Given the description of an element on the screen output the (x, y) to click on. 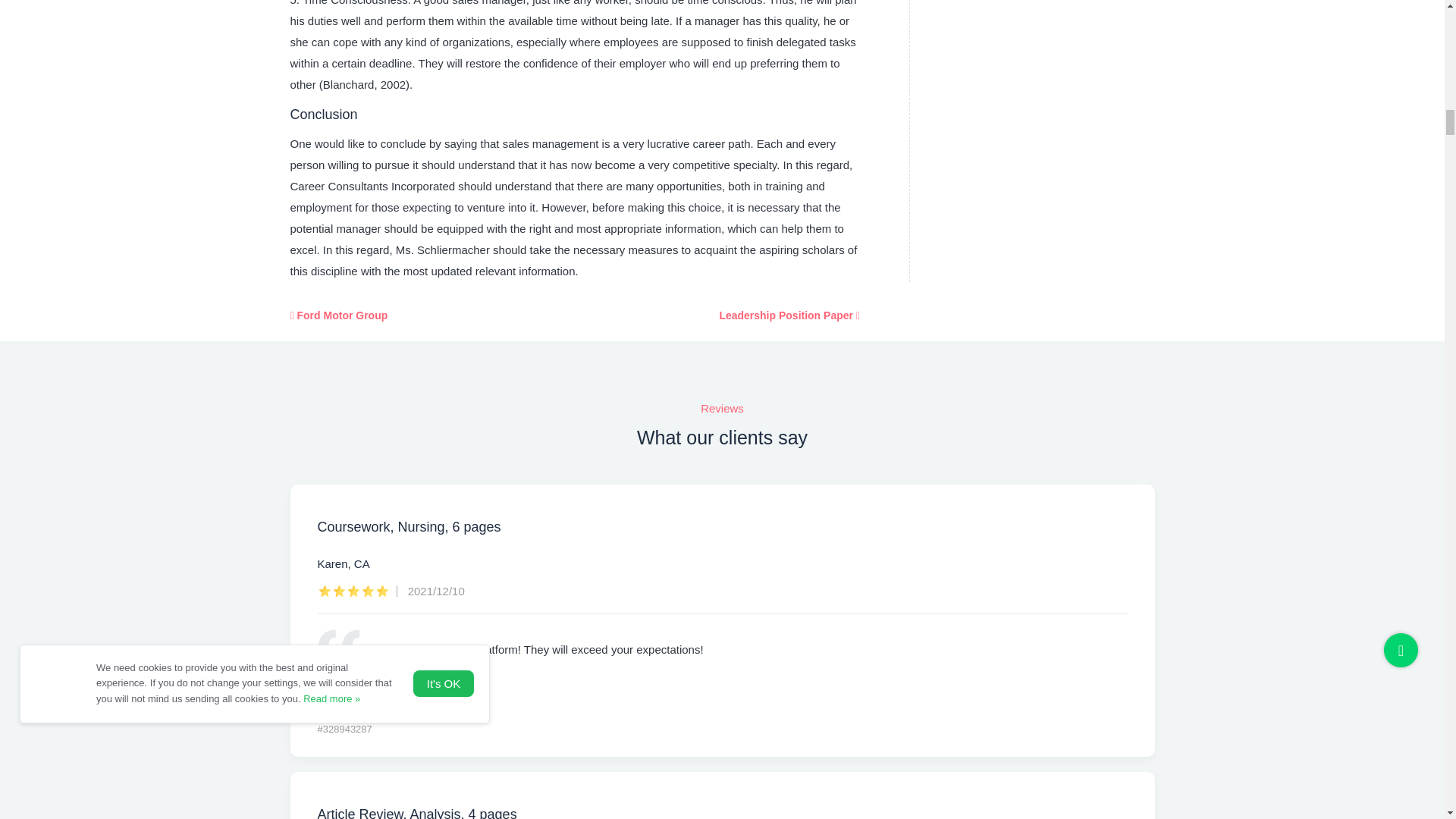
Ford Motor Group (338, 314)
Leadership Position Paper (789, 314)
